Given the description of an element on the screen output the (x, y) to click on. 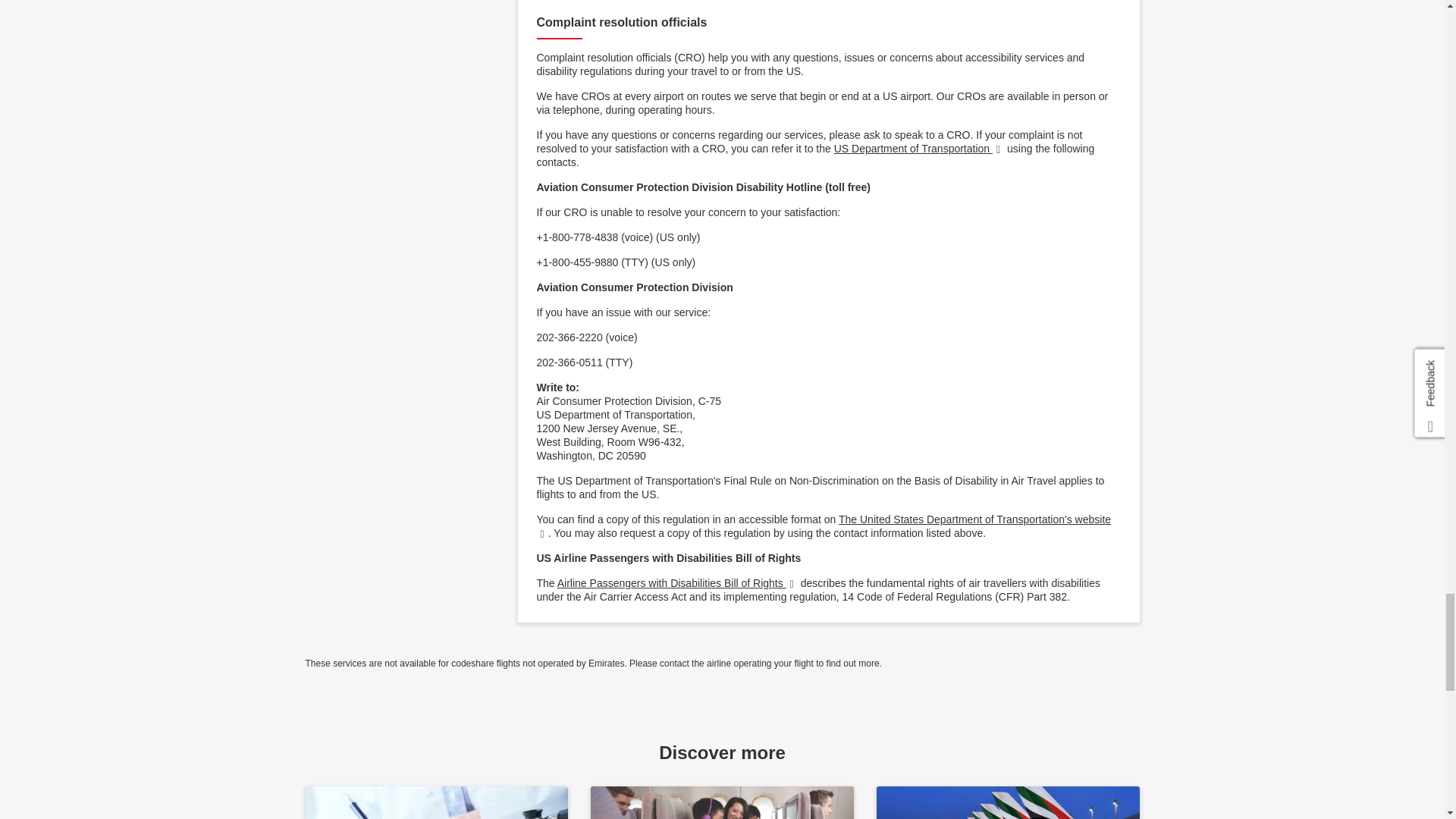
Doctor taking notes (435, 802)
Onboard dining (722, 802)
Terminal 3 (1008, 802)
